Given the description of an element on the screen output the (x, y) to click on. 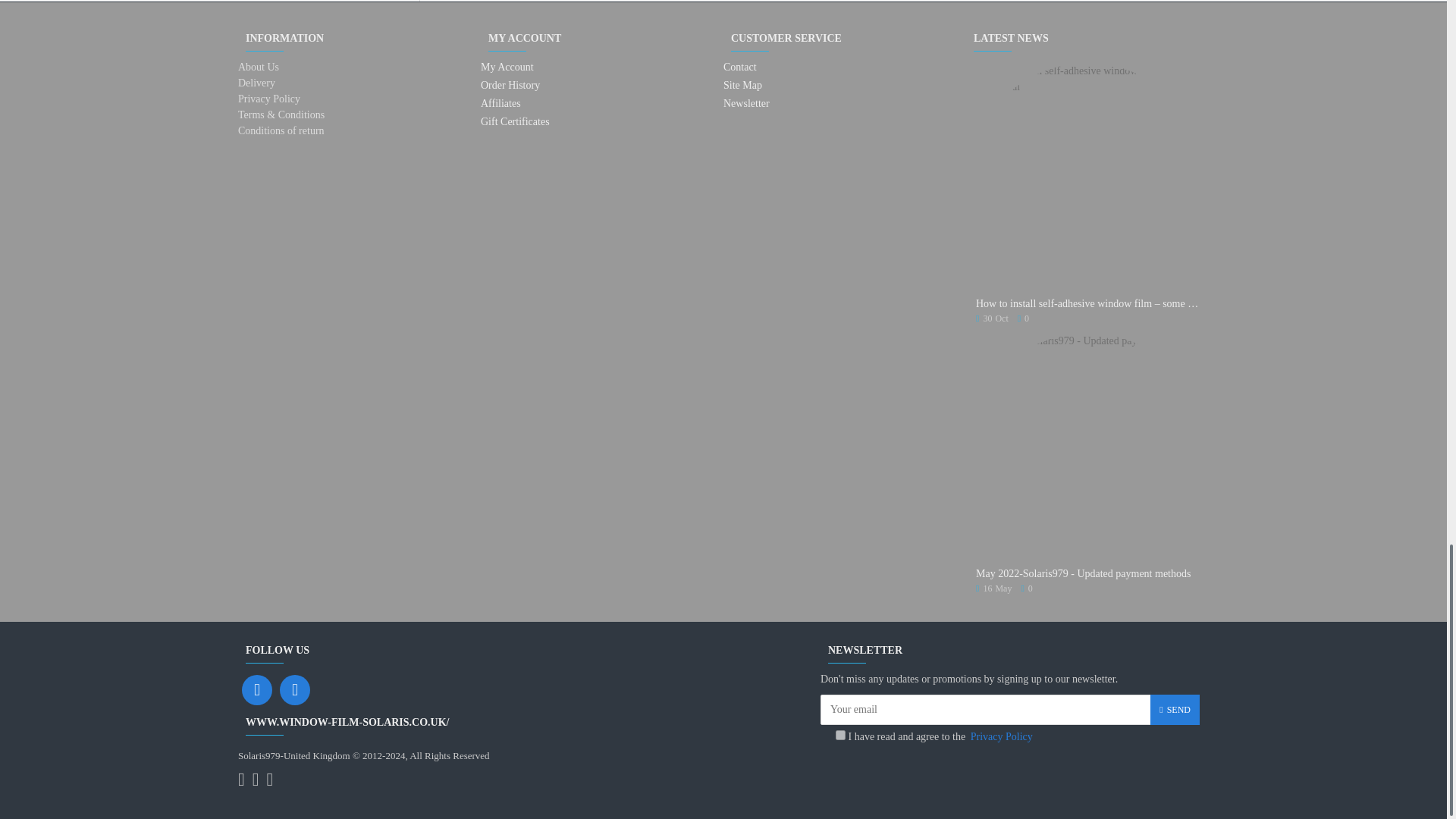
1 (840, 735)
